Given the description of an element on the screen output the (x, y) to click on. 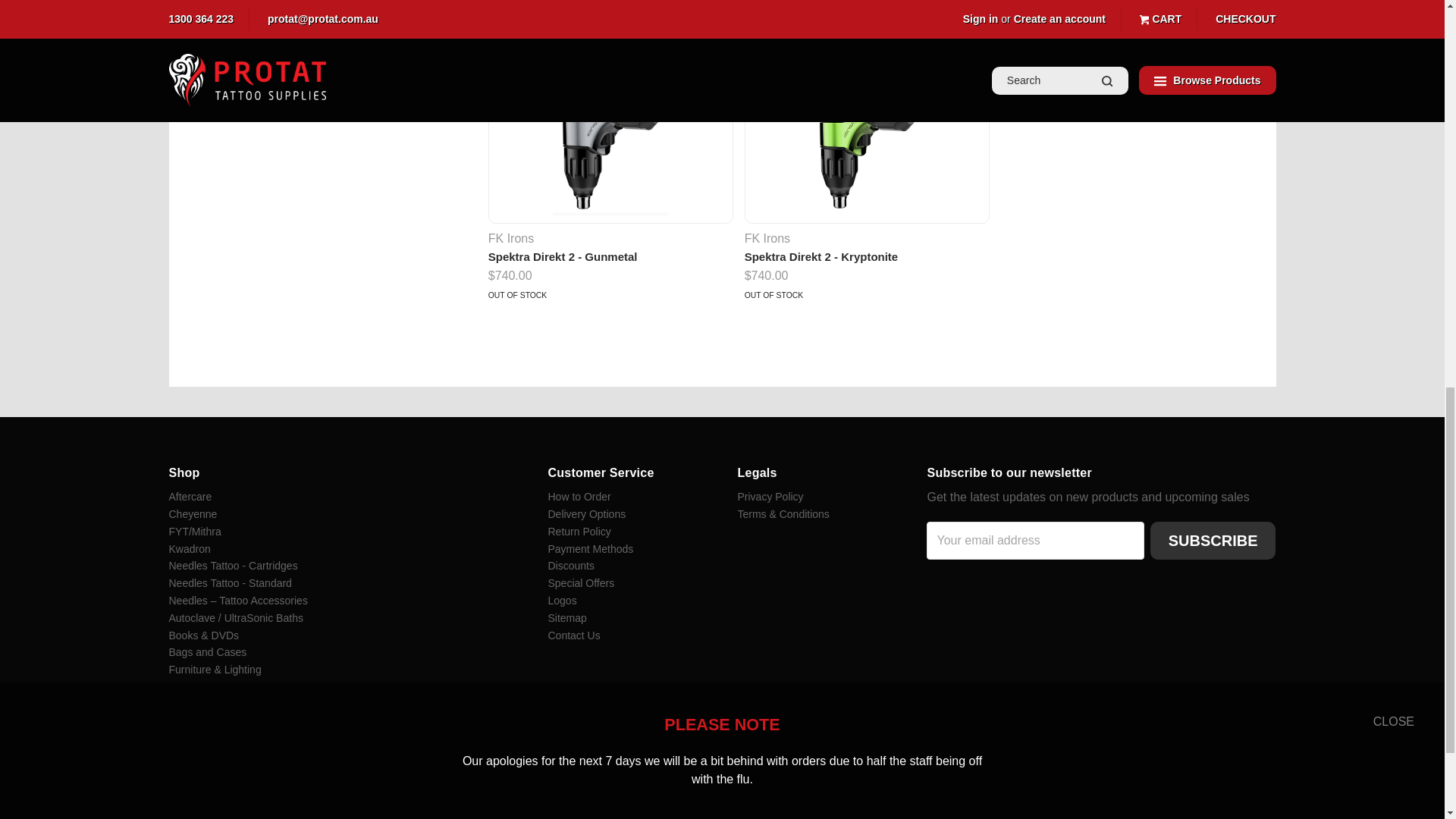
Subscribe (1213, 540)
